Given the description of an element on the screen output the (x, y) to click on. 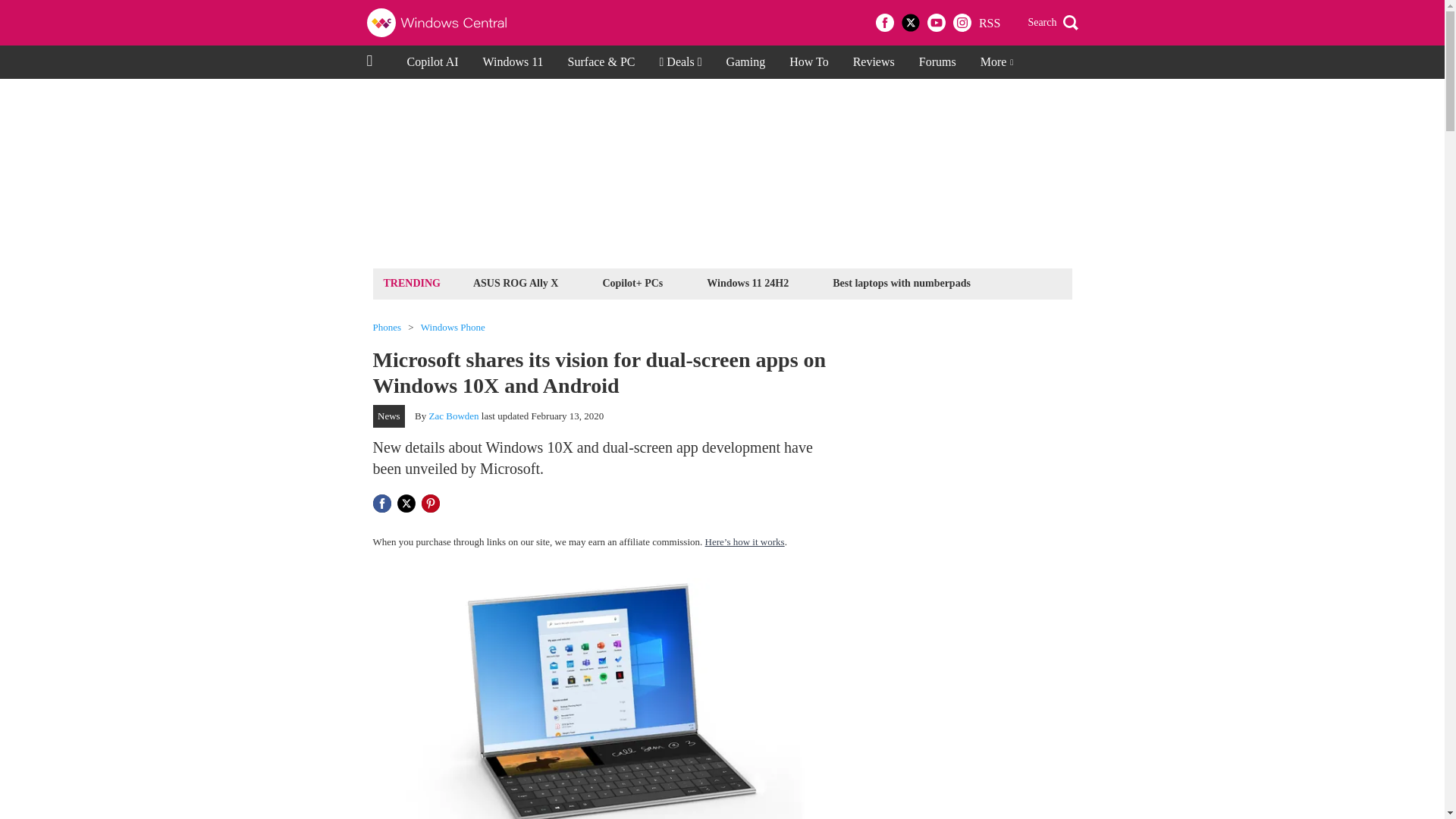
News (389, 415)
Windows Phone (452, 327)
Reviews (874, 61)
RSS (989, 22)
How To (808, 61)
Windows 11 24H2 (747, 282)
Forums (937, 61)
Copilot AI (432, 61)
Phones (386, 327)
ASUS ROG Ally X (515, 282)
Zac Bowden (454, 415)
Windows 11 (513, 61)
Gaming (745, 61)
Best laptops with numberpads (901, 282)
